Given the description of an element on the screen output the (x, y) to click on. 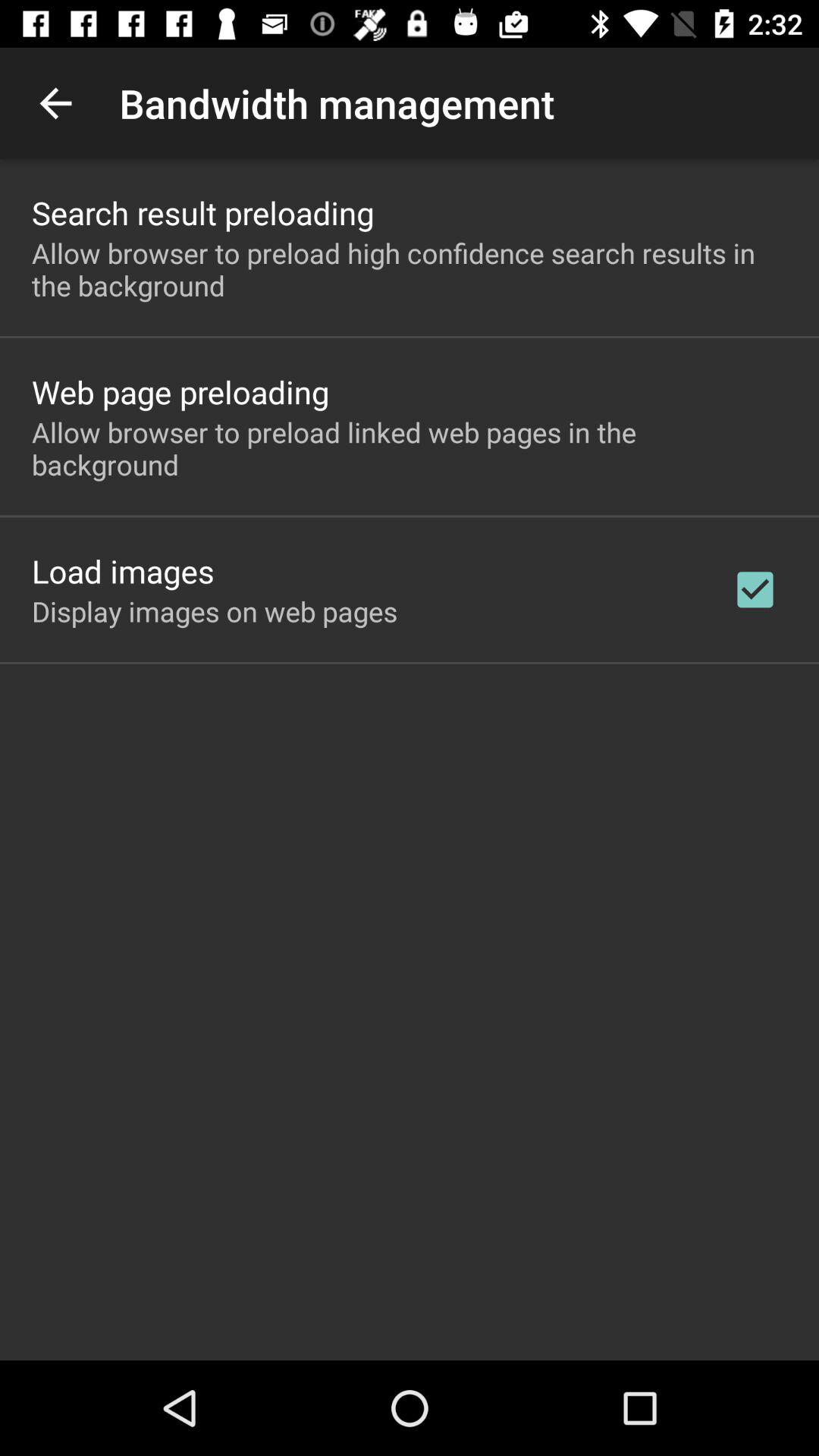
swipe until web page preloading (180, 391)
